Given the description of an element on the screen output the (x, y) to click on. 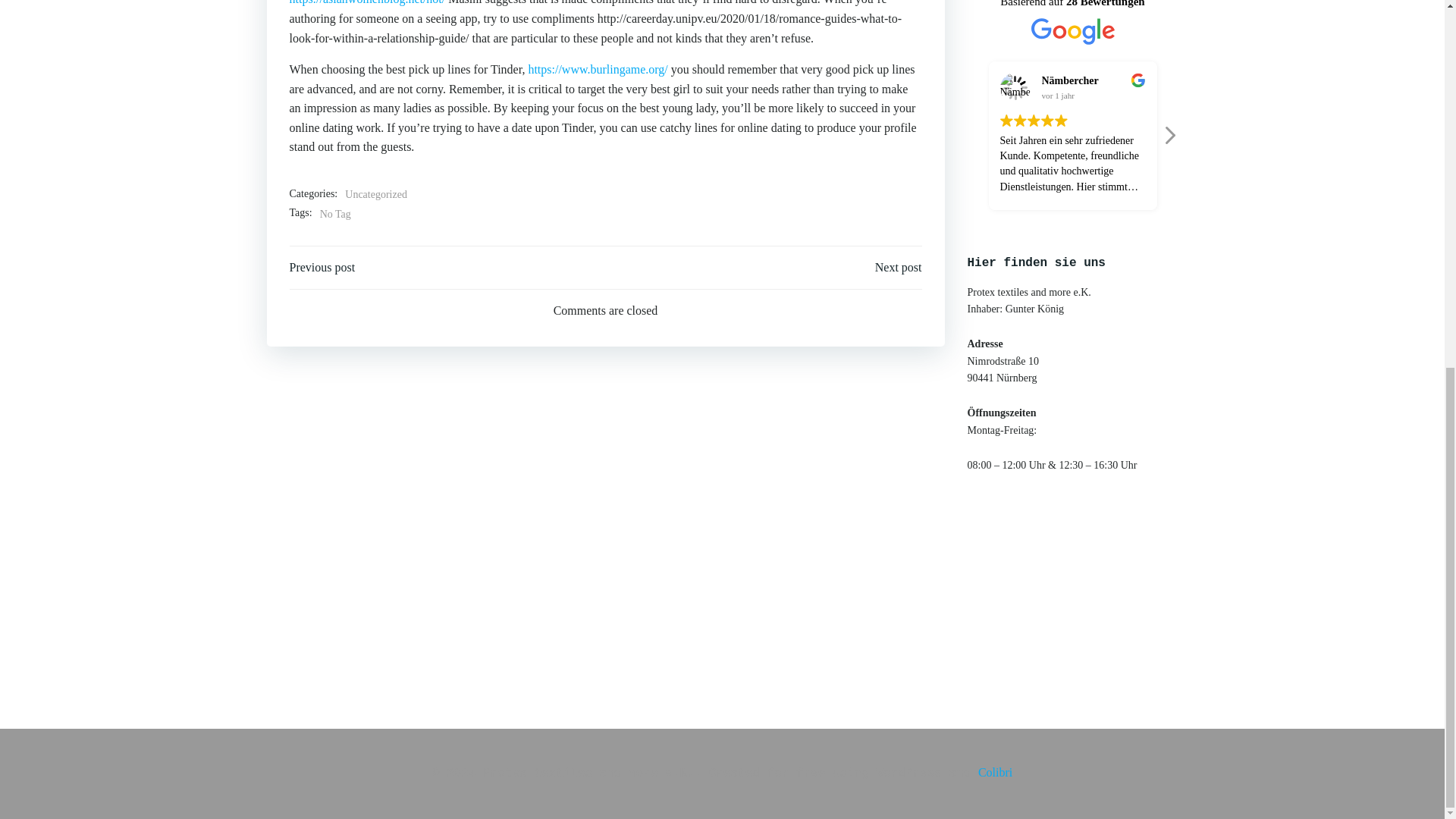
Colibri (994, 771)
Uncategorized (376, 194)
Previous post (322, 267)
Next post (898, 267)
